Given the description of an element on the screen output the (x, y) to click on. 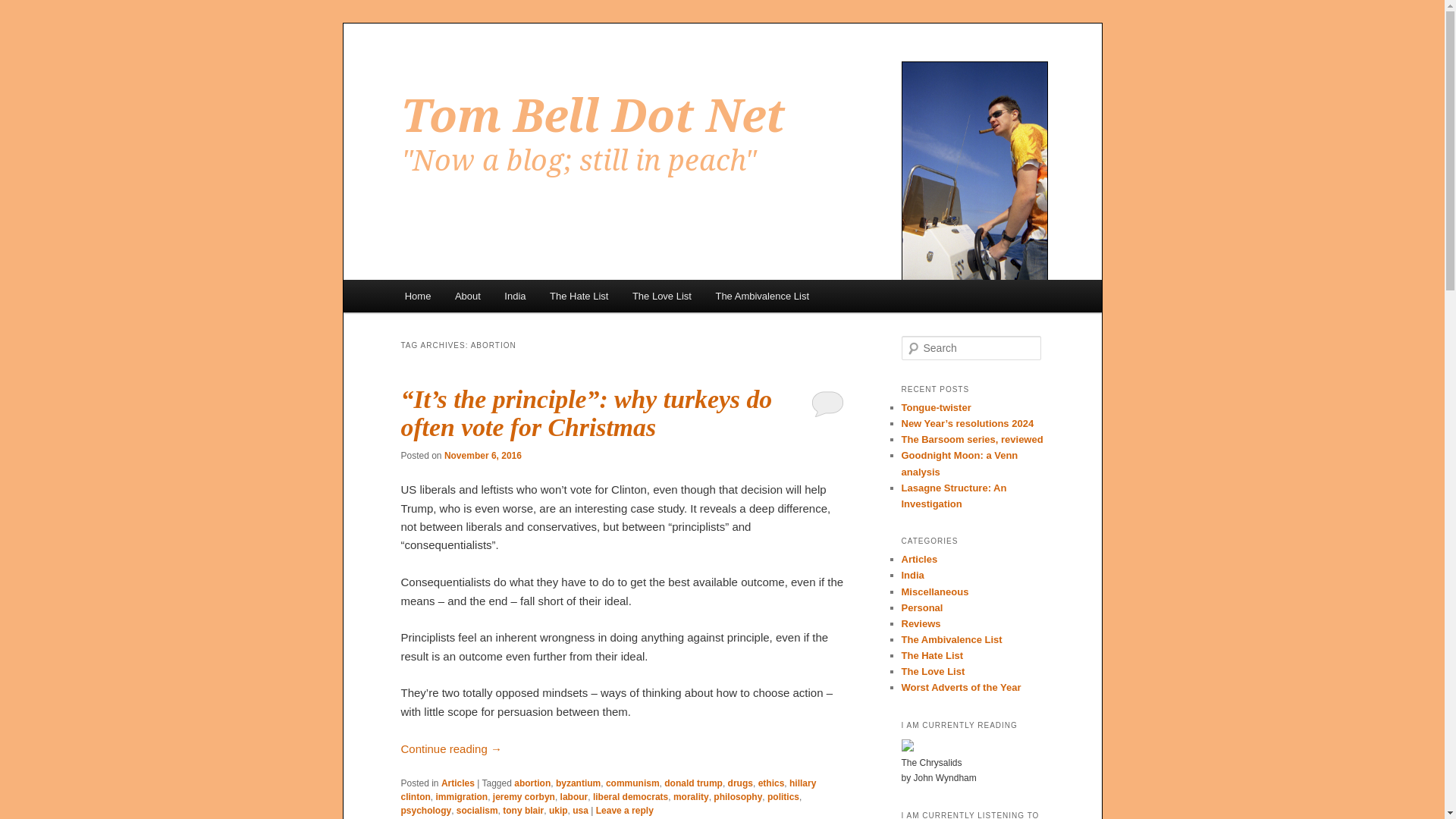
6:08 pm (482, 455)
The Hate List (578, 296)
ukip (557, 810)
tony blair (522, 810)
Articles (457, 783)
hillary clinton (607, 790)
About (467, 296)
November 6, 2016 (482, 455)
usa (580, 810)
India (515, 296)
